Given the description of an element on the screen output the (x, y) to click on. 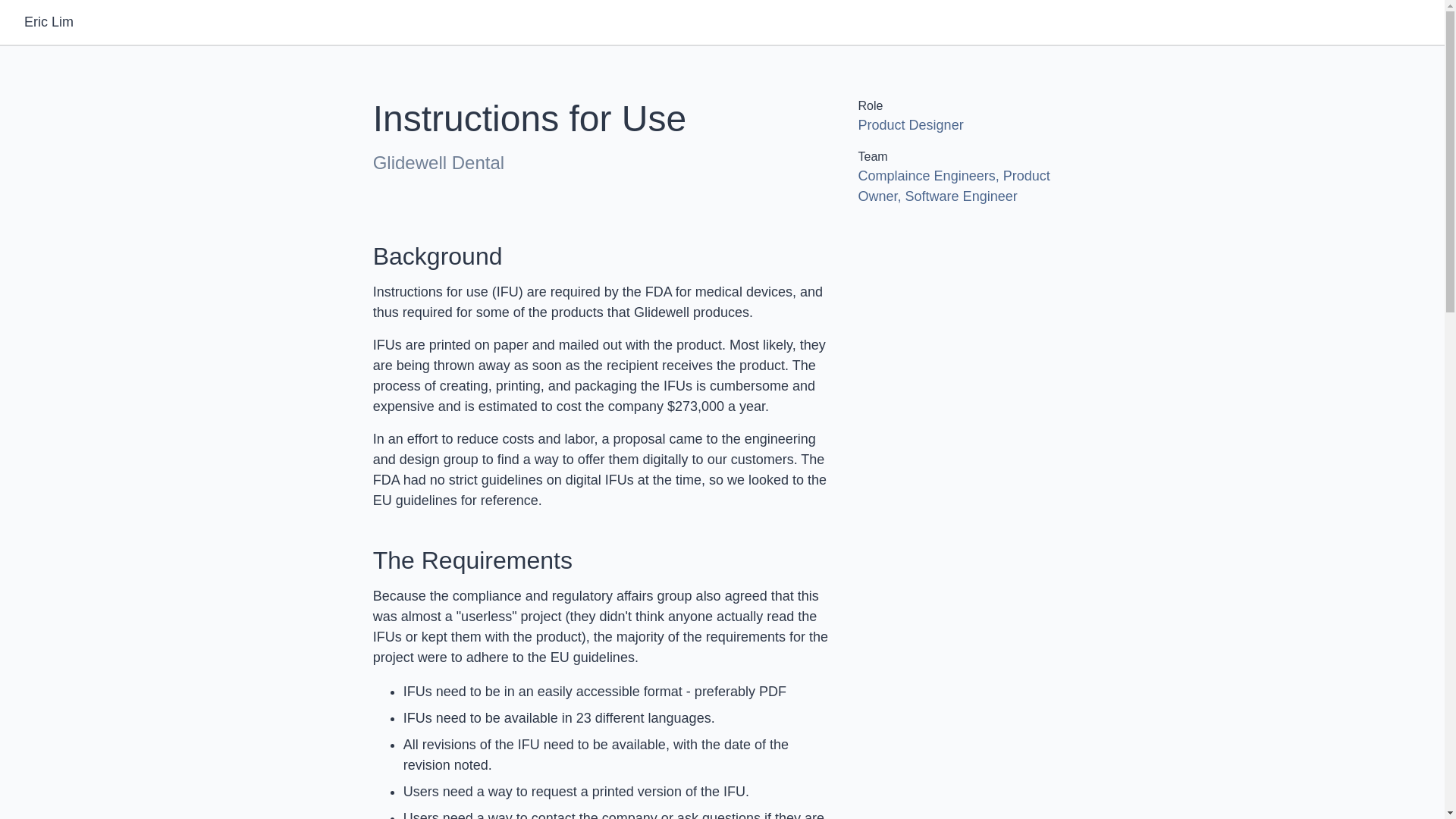
Eric Lim (49, 21)
